Given the description of an element on the screen output the (x, y) to click on. 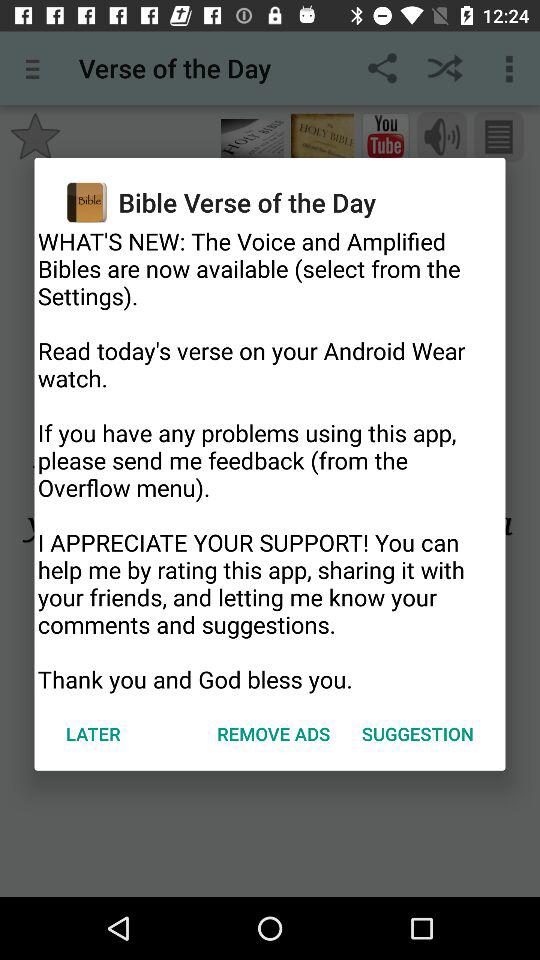
turn off the suggestion at the bottom right corner (417, 733)
